Given the description of an element on the screen output the (x, y) to click on. 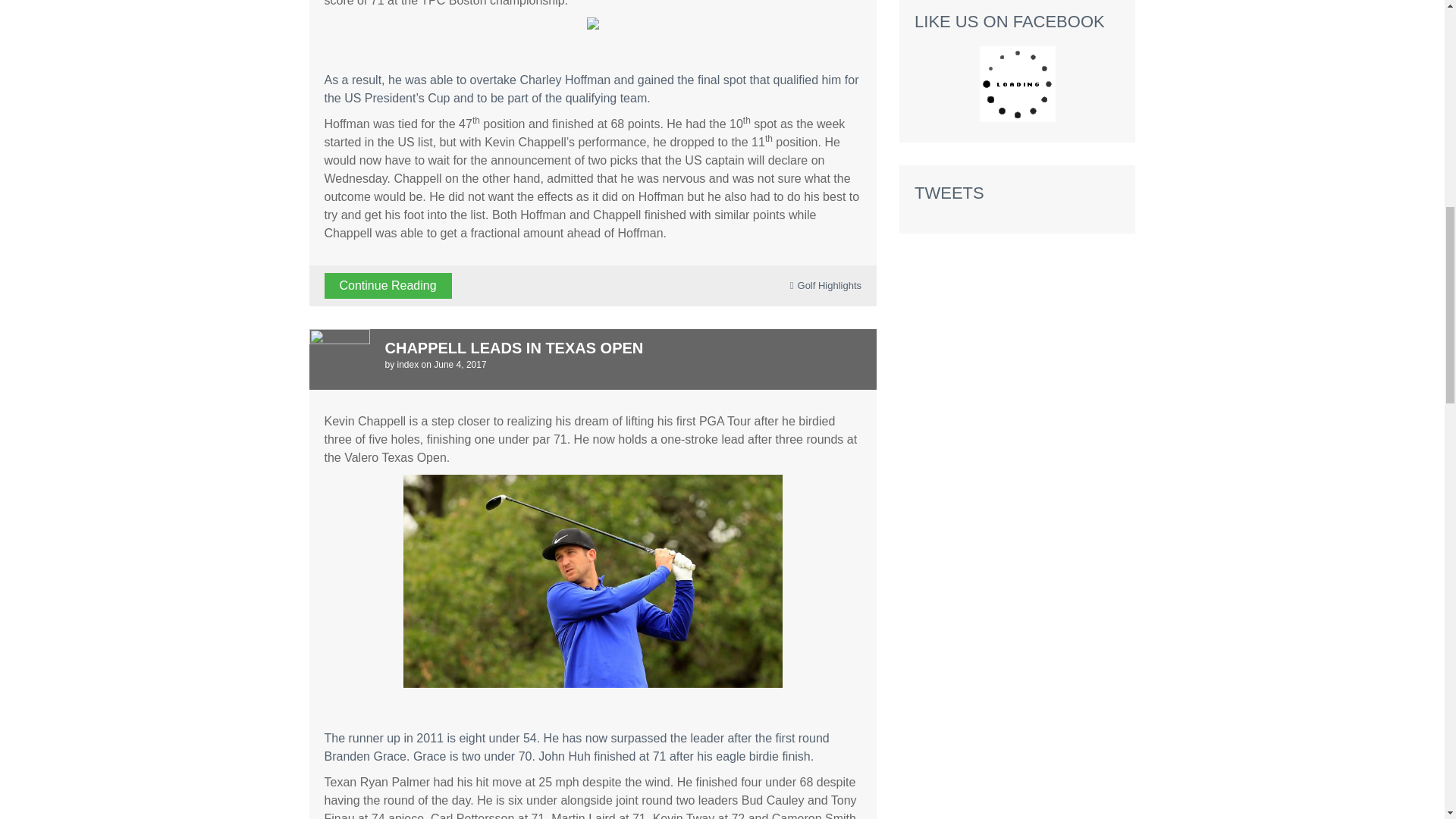
Continue Reading (387, 285)
CHAPPELL LEADS IN TEXAS OPEN (514, 347)
Golf Highlights (829, 285)
